Given the description of an element on the screen output the (x, y) to click on. 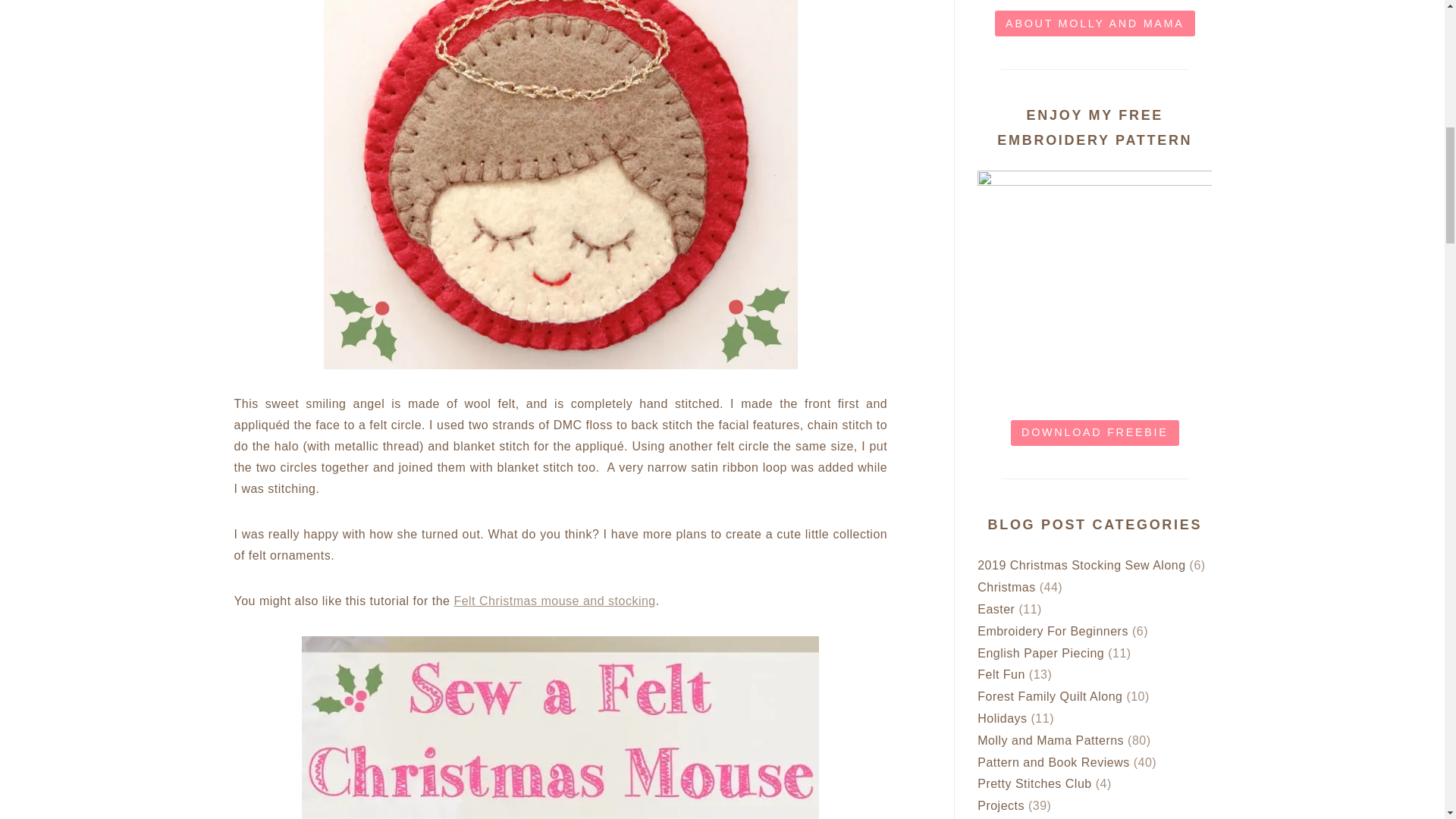
Felt Christmas mouse and stocking (553, 600)
Sew a Felt Christmas Mouse (553, 600)
